Given the description of an element on the screen output the (x, y) to click on. 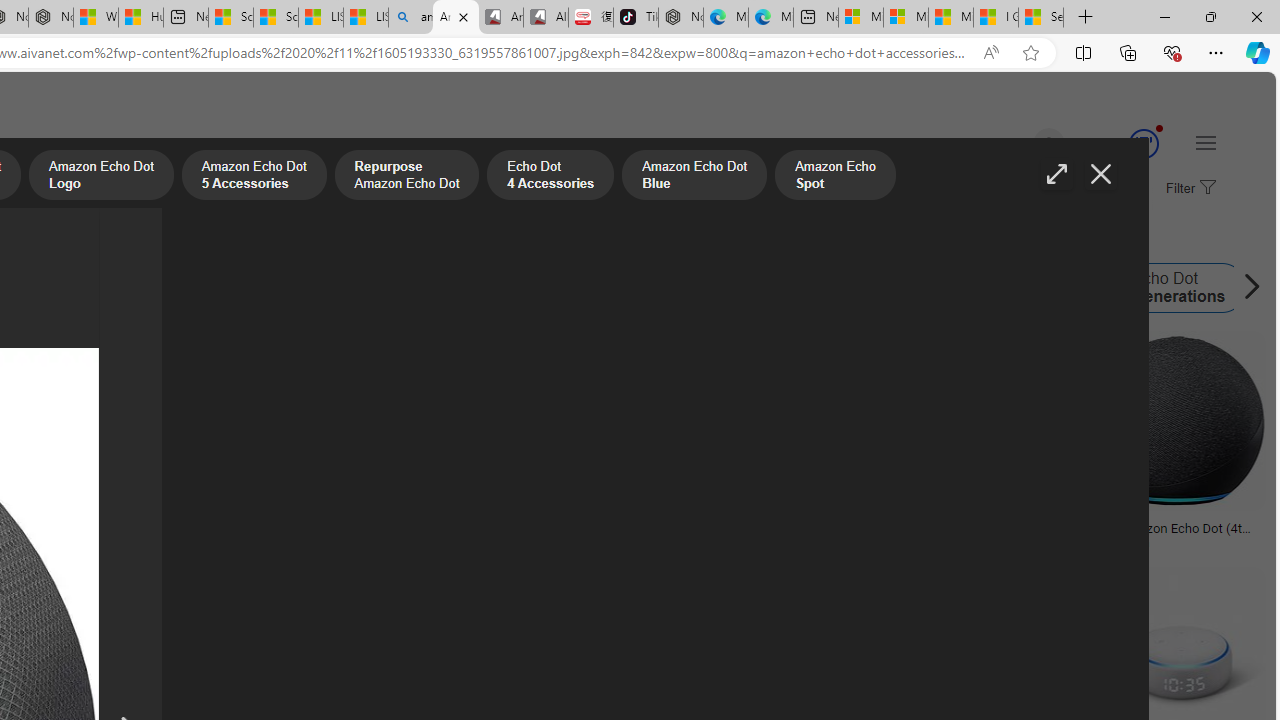
Echo Dot Generations (1103, 287)
Amazon Echo Dot Logo (390, 287)
tpsearchtool.com (930, 541)
Class: medal-svg-animation (1143, 143)
Alexa Echo Png Pic Png Arts Images (976, 534)
Amazon Echo Dot 3 (968, 287)
tpsearchtool.com (976, 542)
Amazon Echo Dot PNG - Search Images (455, 17)
